Given the description of an element on the screen output the (x, y) to click on. 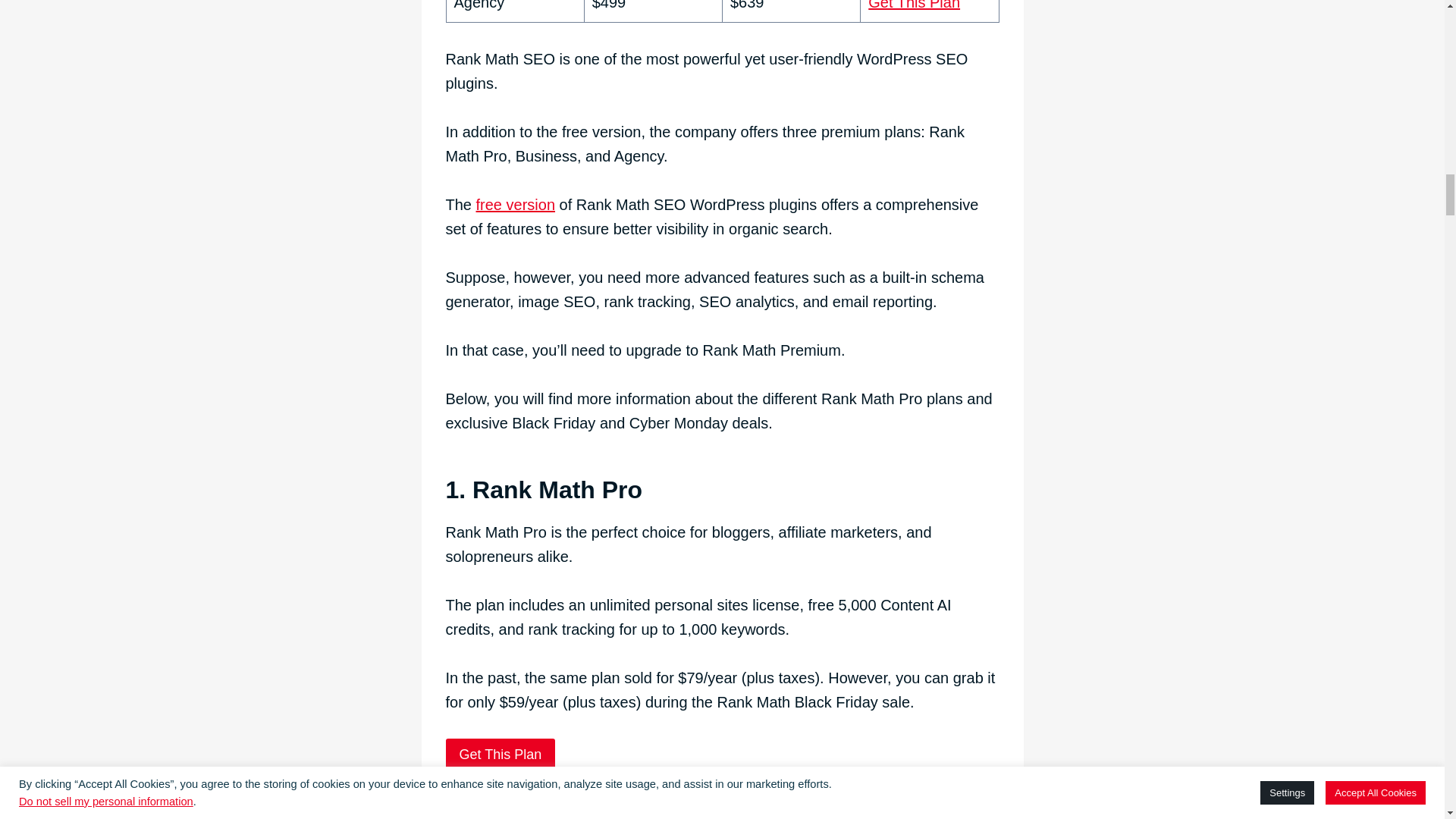
Get This Plan (913, 5)
